Given the description of an element on the screen output the (x, y) to click on. 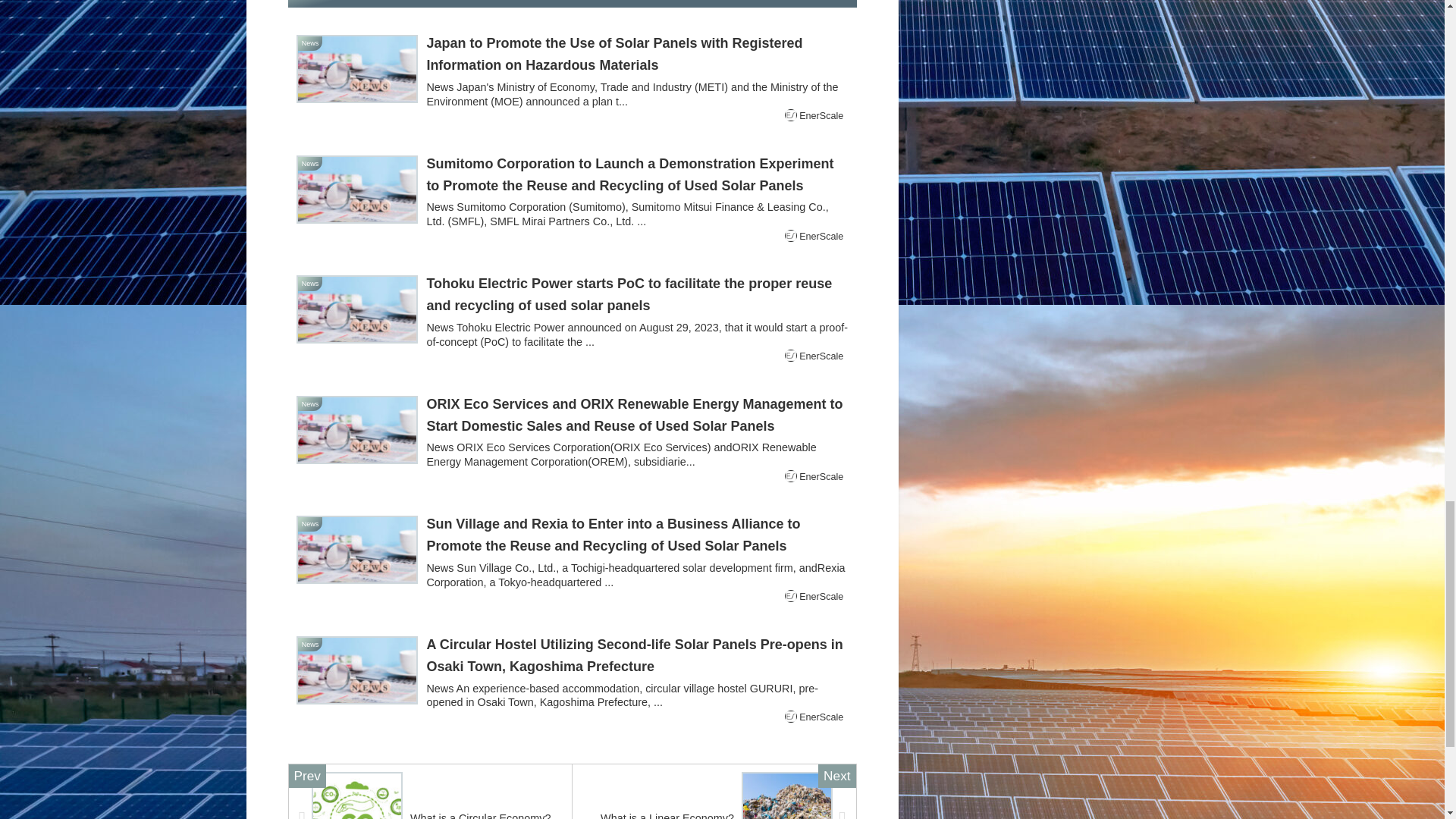
What is a Circular Economy? (430, 791)
What is a Circular Economy? (430, 791)
What is a Linear Economy? (714, 791)
What is a Linear Economy? (714, 791)
